Given the description of an element on the screen output the (x, y) to click on. 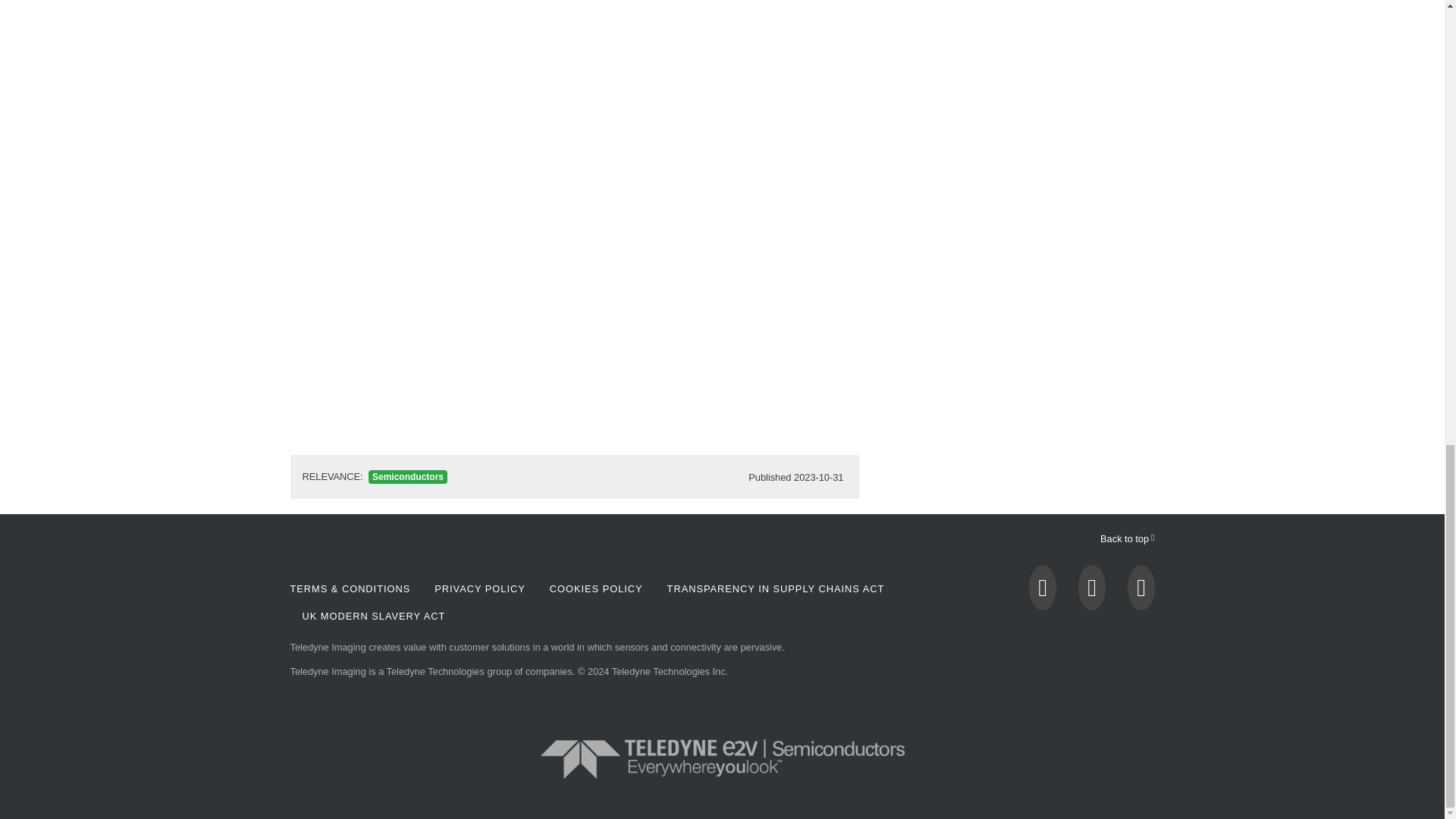
Follow us on Twitter (1043, 591)
Connect with us on LinkedIn (1140, 591)
Subscribe to our Youtube channel (1091, 591)
